Given the description of an element on the screen output the (x, y) to click on. 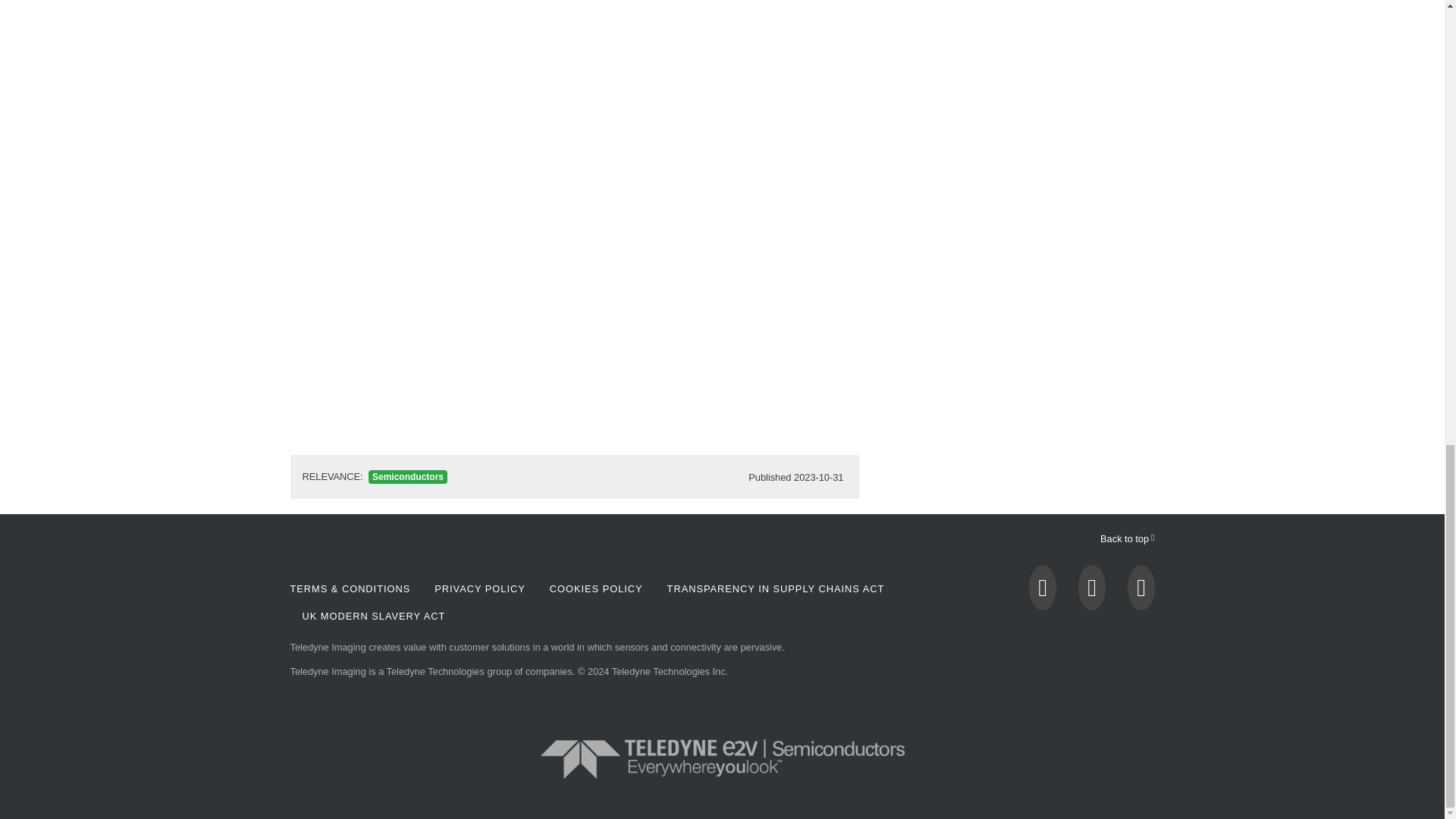
Follow us on Twitter (1043, 591)
Connect with us on LinkedIn (1140, 591)
Subscribe to our Youtube channel (1091, 591)
